Given the description of an element on the screen output the (x, y) to click on. 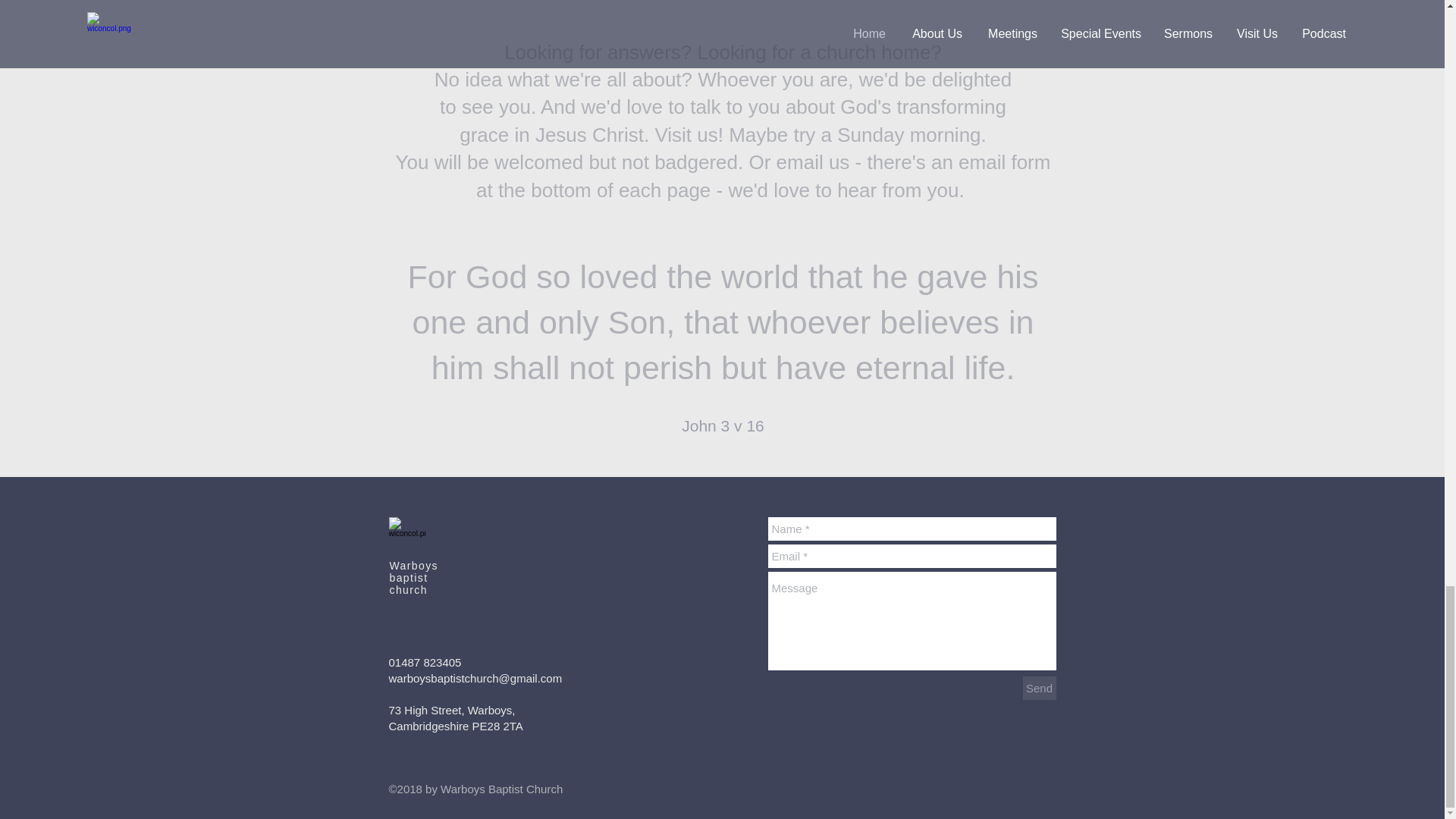
Send (1038, 688)
